Given the description of an element on the screen output the (x, y) to click on. 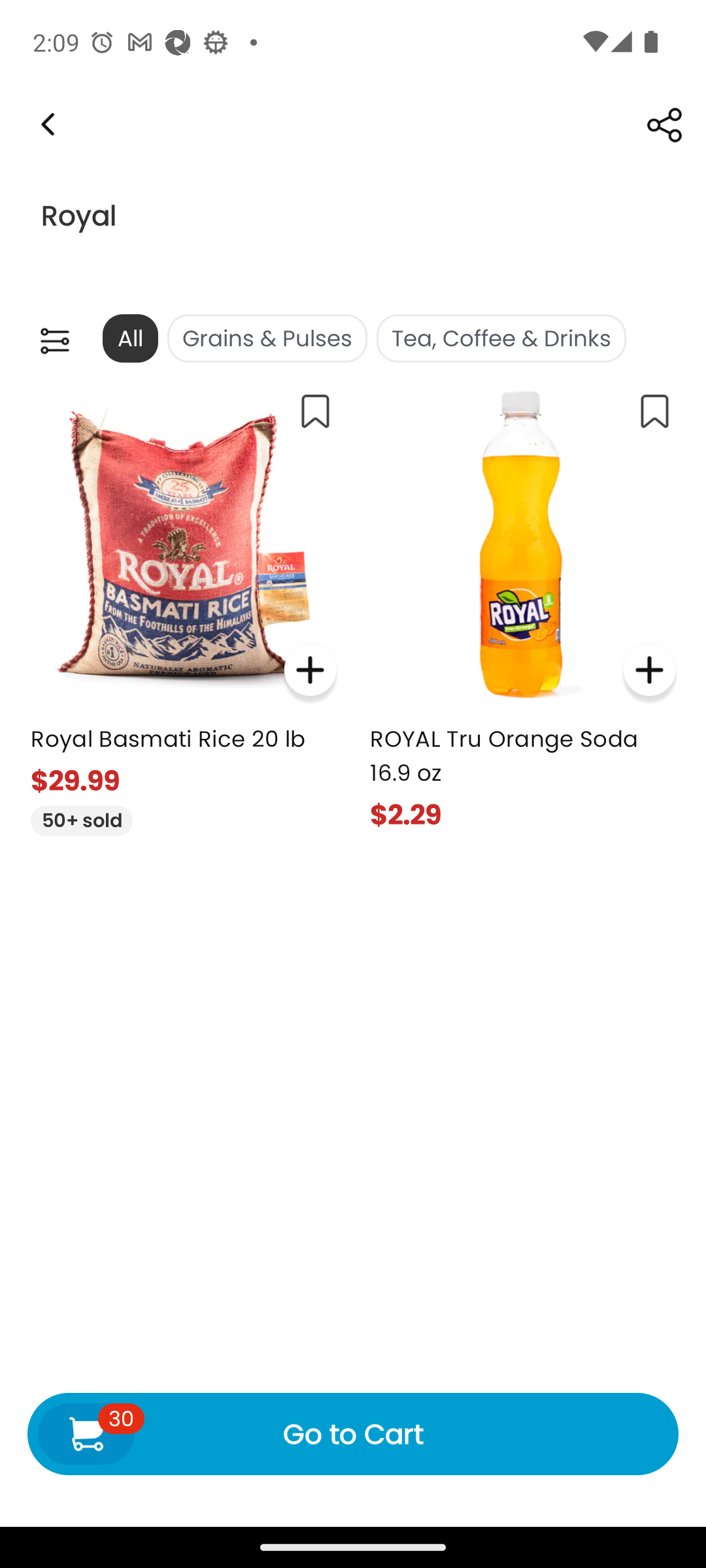
All (130, 338)
Grains & Pulses (267, 338)
Tea, Coffee & Drinks (501, 338)
Royal Basmati Rice 20 lb $29.99 50+ sold (182, 605)
ROYAL Tru Orange Soda 16.9 oz $2.29 (522, 605)
30 Go to Cart (352, 1433)
